Given the description of an element on the screen output the (x, y) to click on. 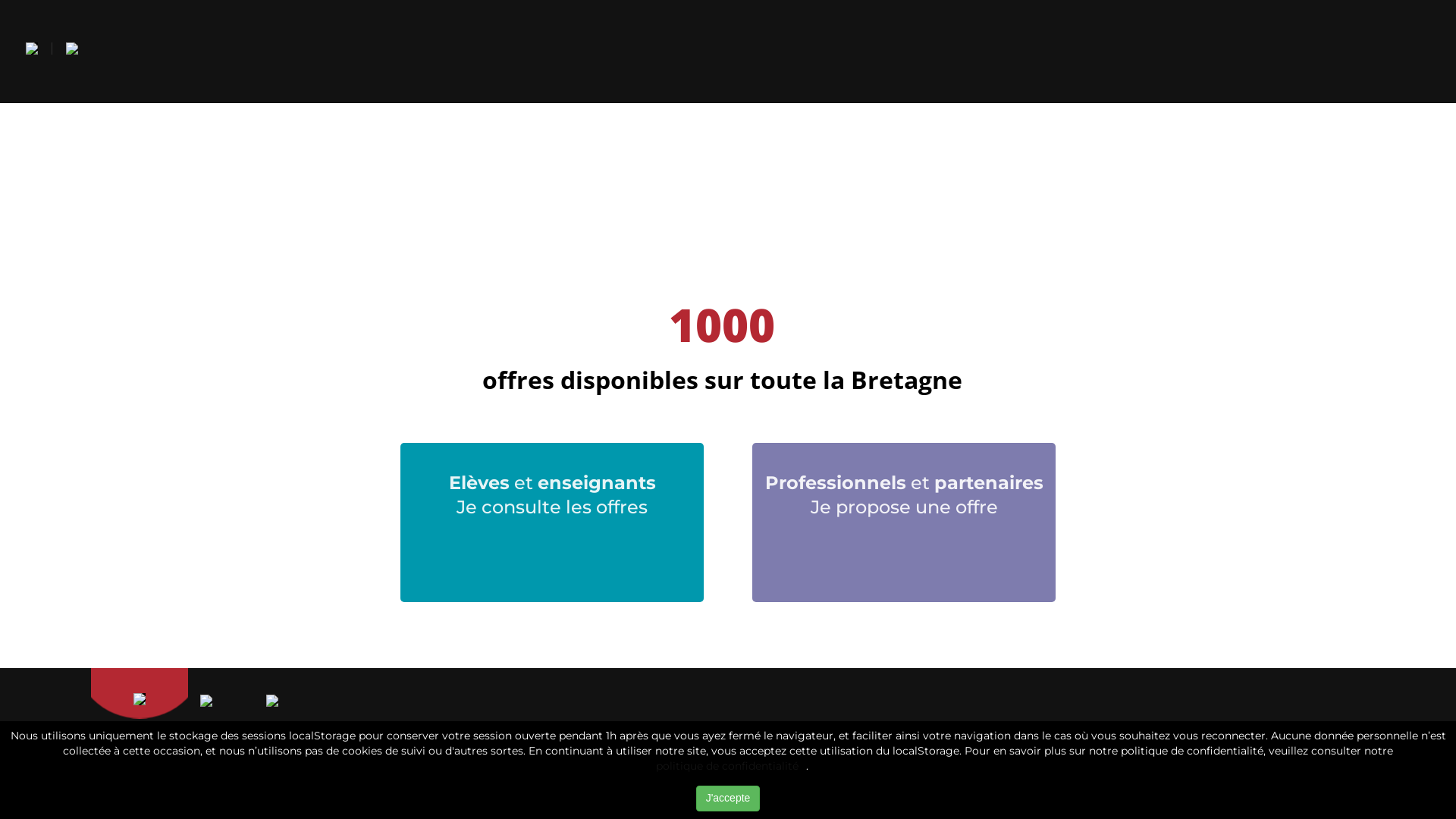
CGU Element type: text (591, 749)
J'accepte Element type: text (728, 798)
Charte Cookies Element type: text (1026, 749)
